Given the description of an element on the screen output the (x, y) to click on. 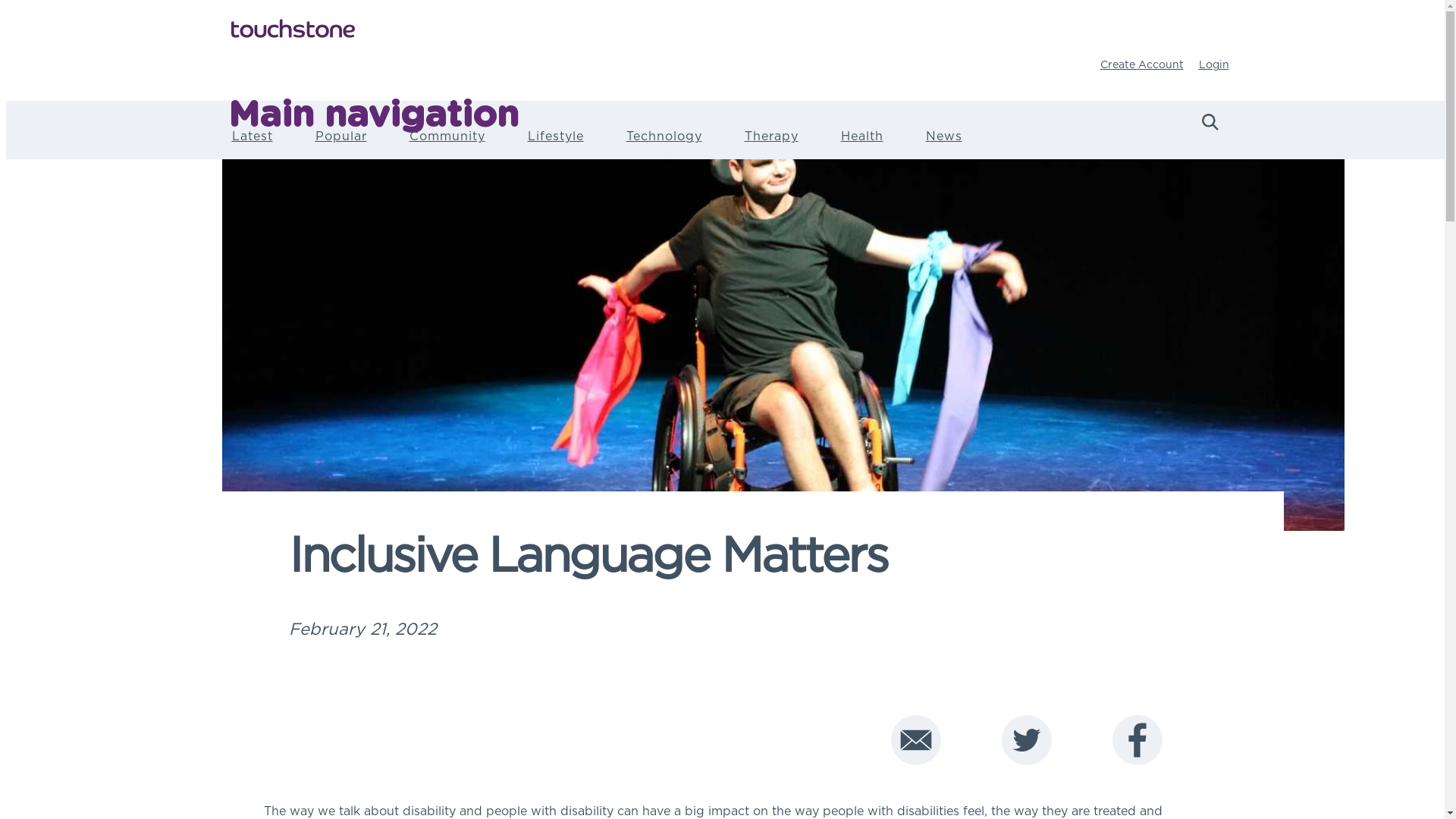
Share to Twitter Element type: hover (1025, 734)
Create Account Element type: text (1141, 64)
Health Element type: text (861, 145)
Share to Facebook Element type: hover (1136, 734)
Lifestyle Element type: text (555, 145)
Latest Element type: text (252, 145)
News Element type: text (943, 145)
Therapy Element type: text (771, 145)
Share to E-mail Element type: hover (914, 734)
Technology Element type: text (664, 145)
Community Element type: text (447, 145)
Skip to main content Element type: text (6, 0)
Login Element type: text (1213, 64)
Popular Element type: text (341, 145)
Home Element type: hover (727, 29)
